Given the description of an element on the screen output the (x, y) to click on. 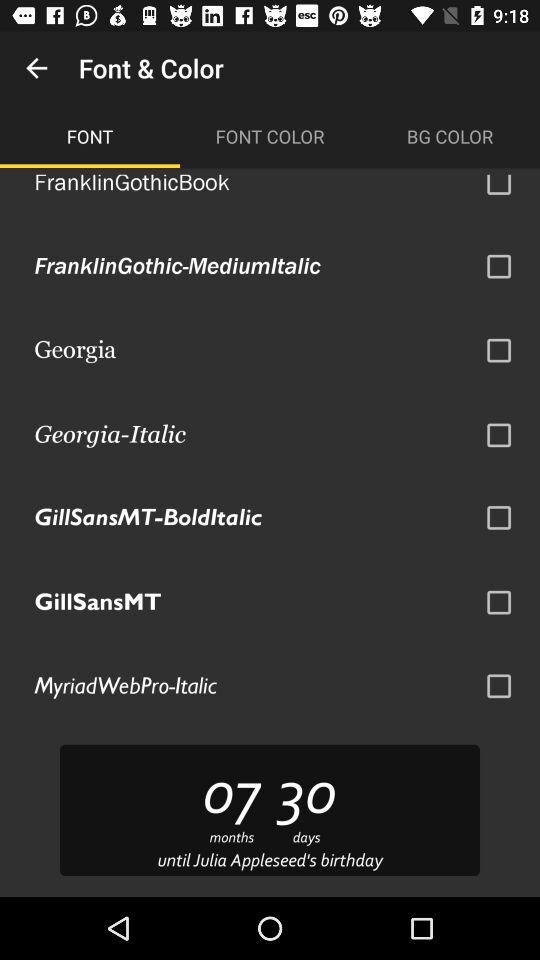
launch icon to the left of font & color item (36, 68)
